Given the description of an element on the screen output the (x, y) to click on. 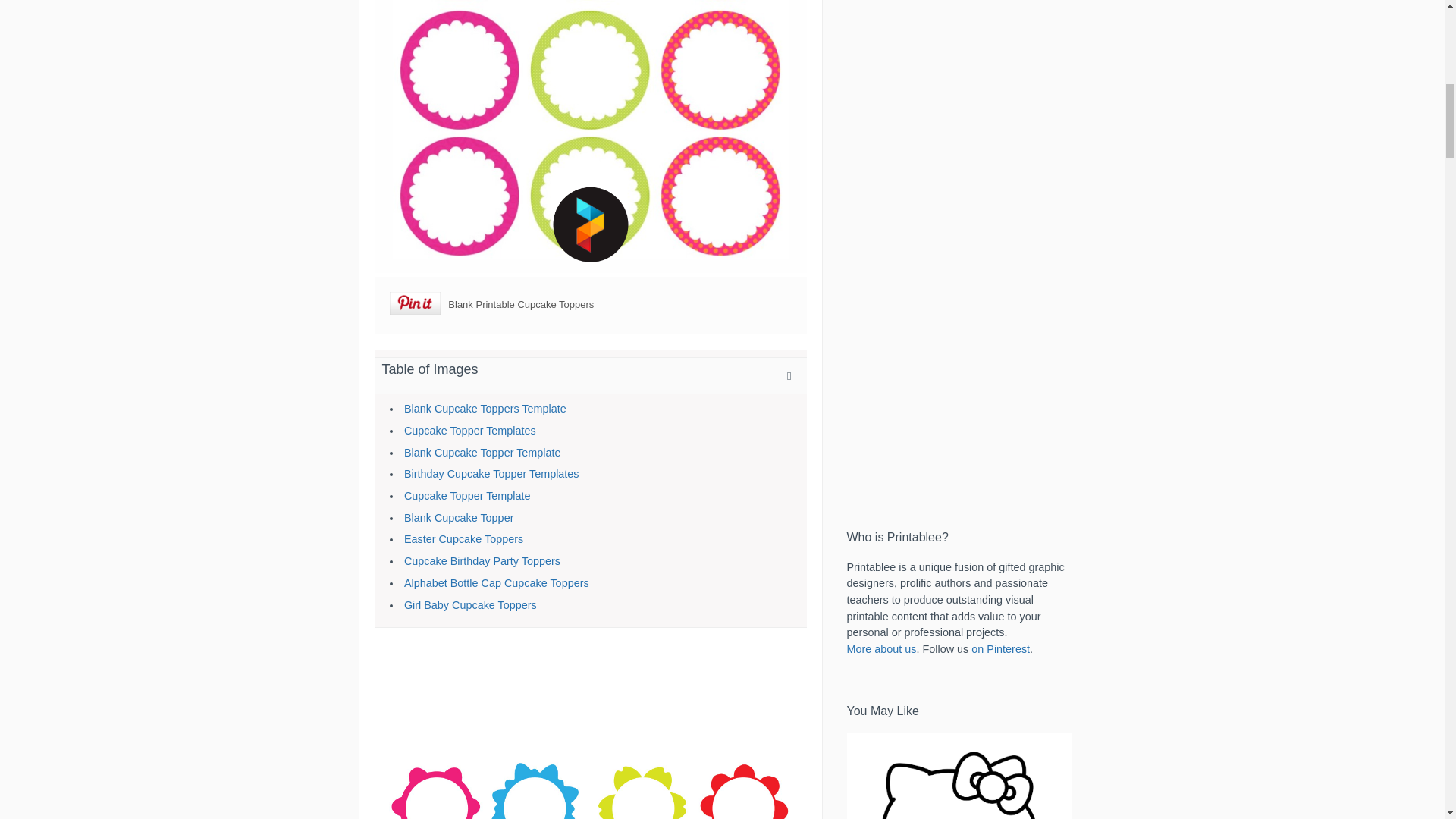
Blank Cupcake Toppers Template (485, 408)
Blank Printable Cupcake Toppers Template (590, 730)
Pin it! (415, 304)
Girl Baby Cupcake Toppers (470, 604)
Alphabet Bottle Cap Cupcake Toppers (496, 582)
Blank Cupcake Topper Template (482, 452)
Cupcake Birthday Party Toppers (482, 561)
Blank Cupcake Toppers (590, 136)
Cupcake Topper Templates (469, 430)
Blank Cupcake Topper (458, 517)
